Given the description of an element on the screen output the (x, y) to click on. 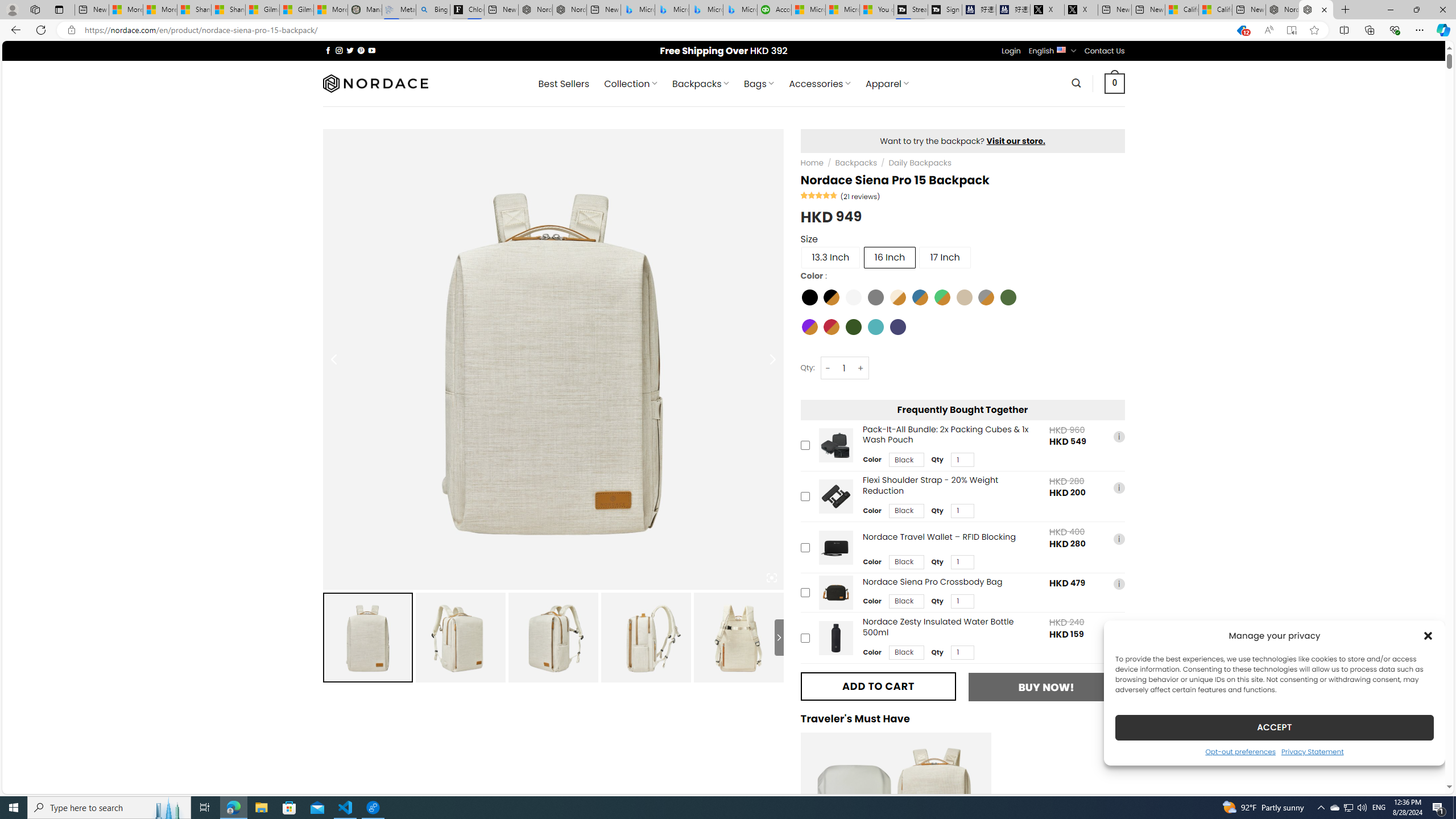
Shanghai, China weather forecast | Microsoft Weather (228, 9)
 0  (1115, 83)
This site has coupons! Shopping in Microsoft Edge, 12 (1241, 29)
  Best Sellers (563, 83)
Follow on YouTube (371, 49)
Microsoft Bing Travel - Shangri-La Hotel Bangkok (739, 9)
Enter Immersive Reader (F9) (1291, 29)
Follow on Instagram (338, 49)
i (1118, 629)
Login (1010, 50)
+ (861, 368)
